Given the description of an element on the screen output the (x, y) to click on. 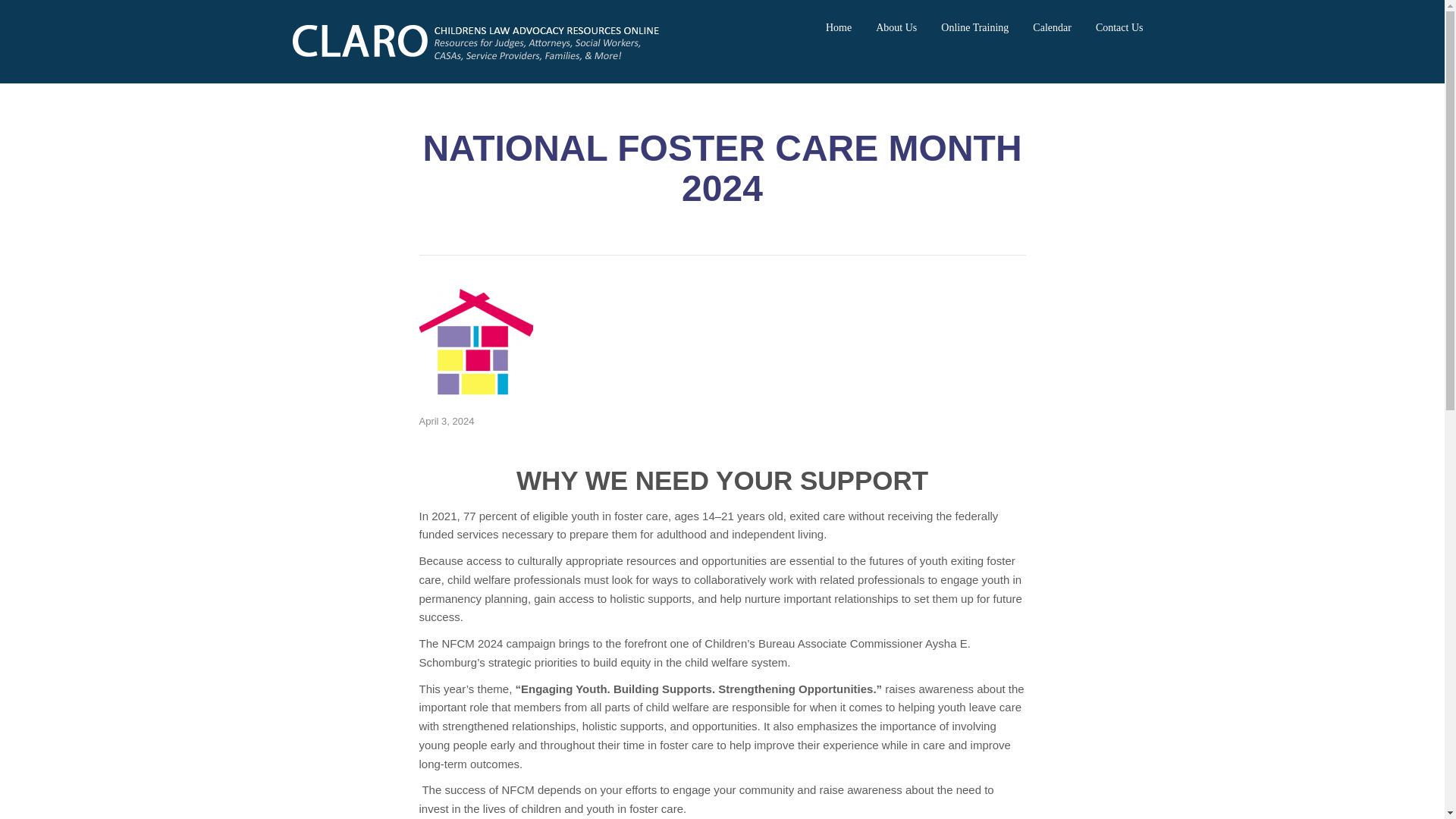
About Us (896, 27)
Home (838, 27)
Calendar (1051, 27)
Contact Us (1119, 27)
Online Training (974, 27)
